Given the description of an element on the screen output the (x, y) to click on. 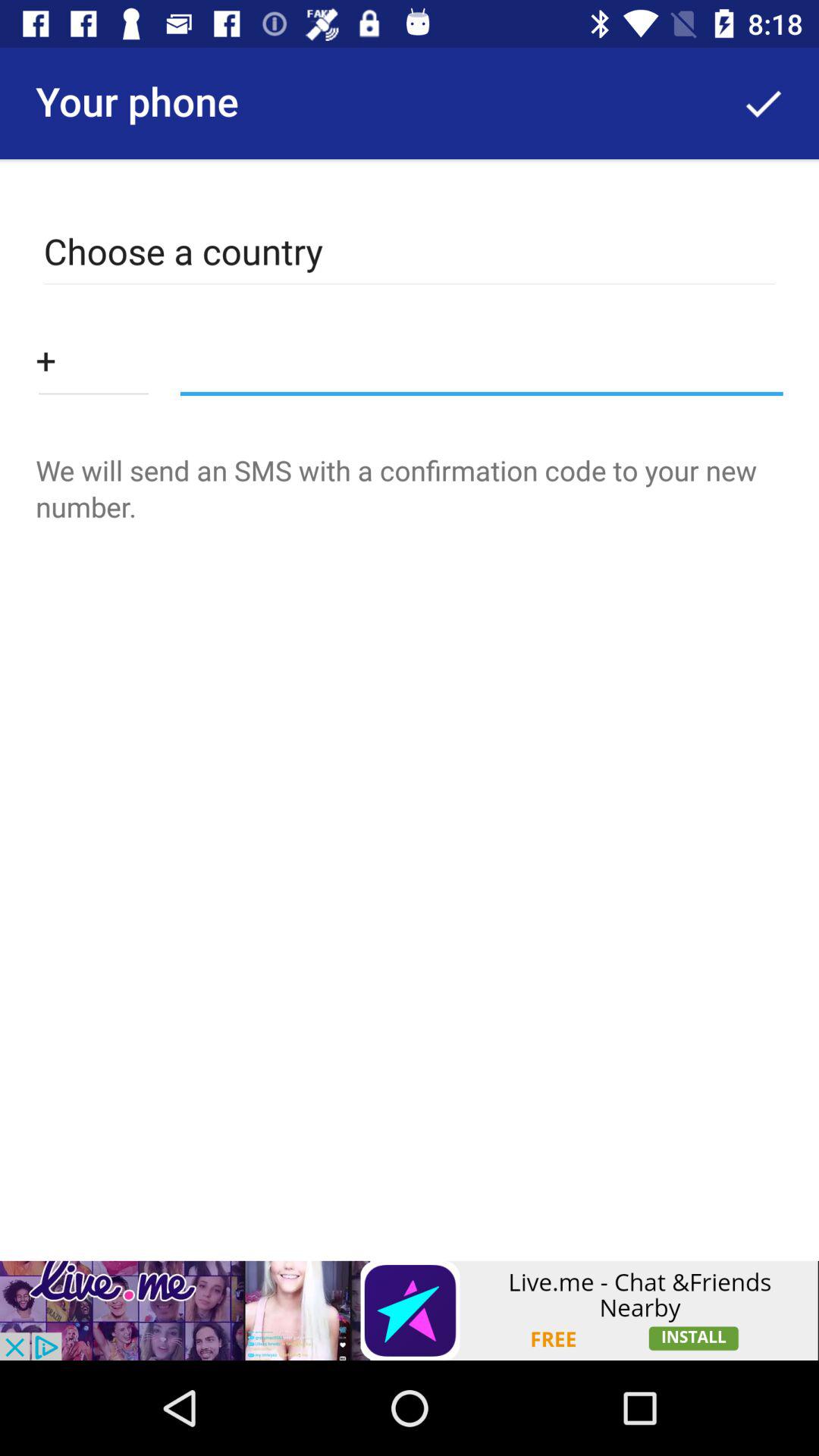
advertisement (409, 1310)
